Given the description of an element on the screen output the (x, y) to click on. 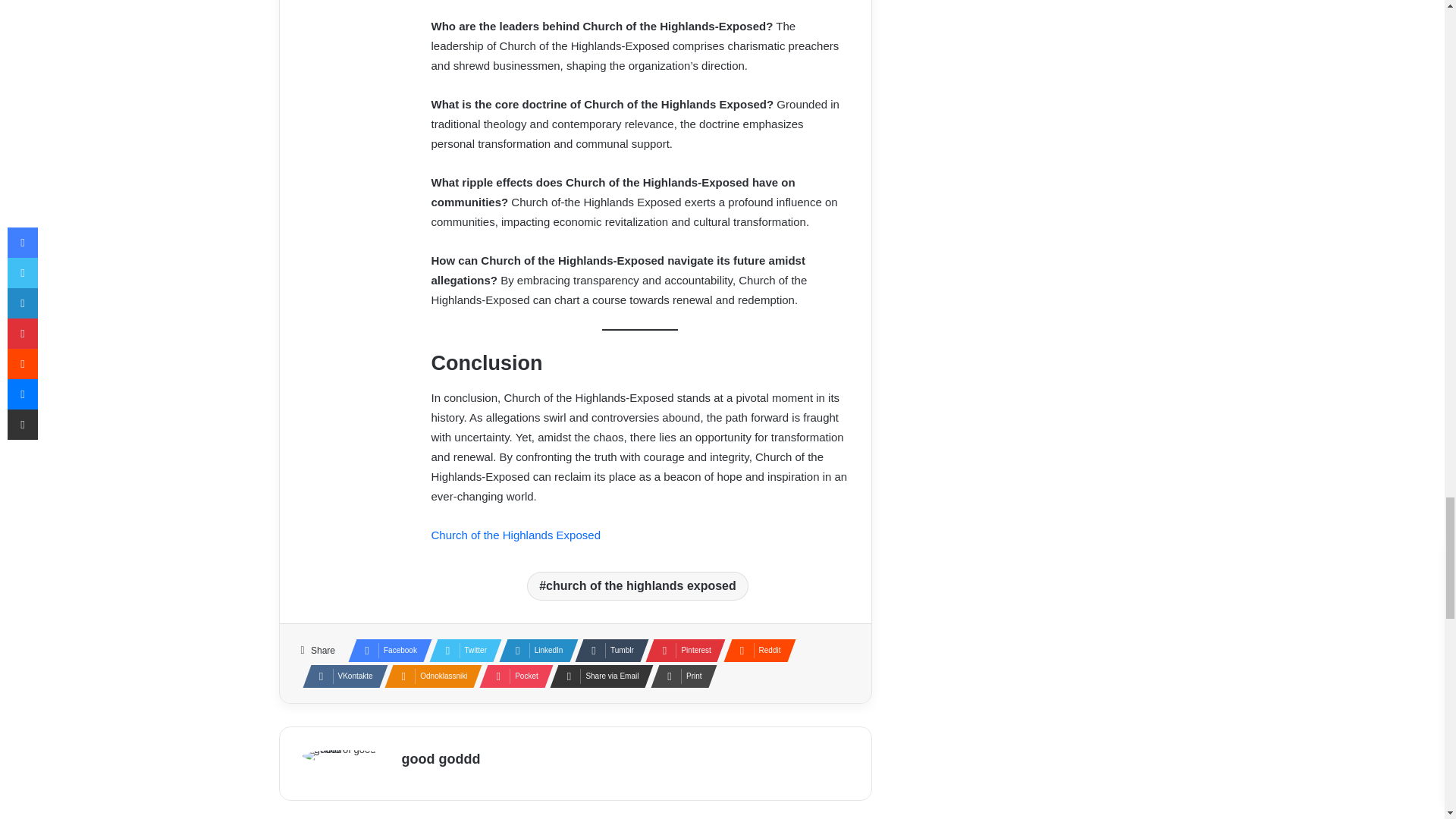
church of the highlands exposed (637, 585)
Church of the Highlands Exposed (514, 534)
